Given the description of an element on the screen output the (x, y) to click on. 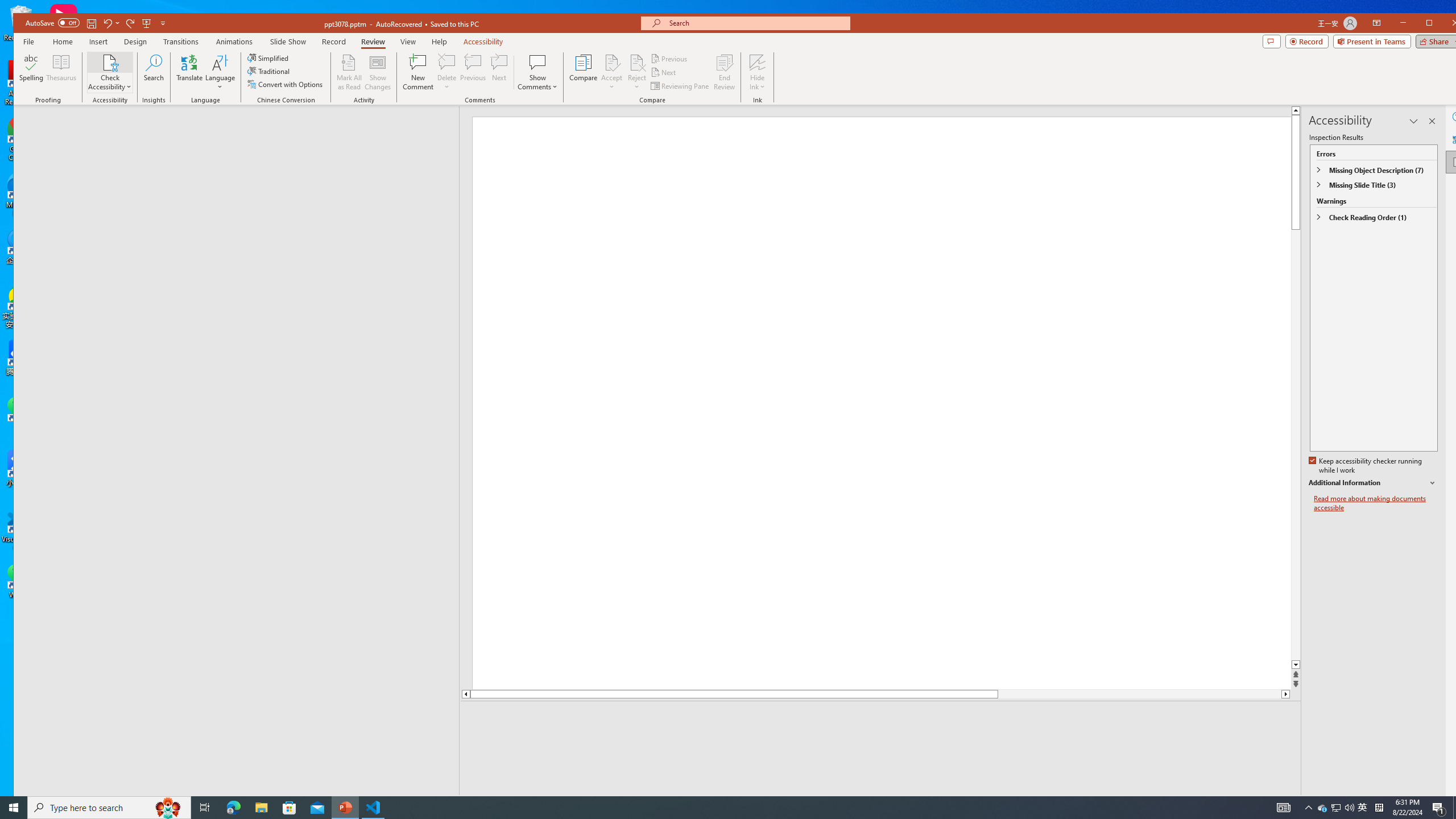
Menu On (1235, 802)
Slide Show Next On (1253, 802)
